Given the description of an element on the screen output the (x, y) to click on. 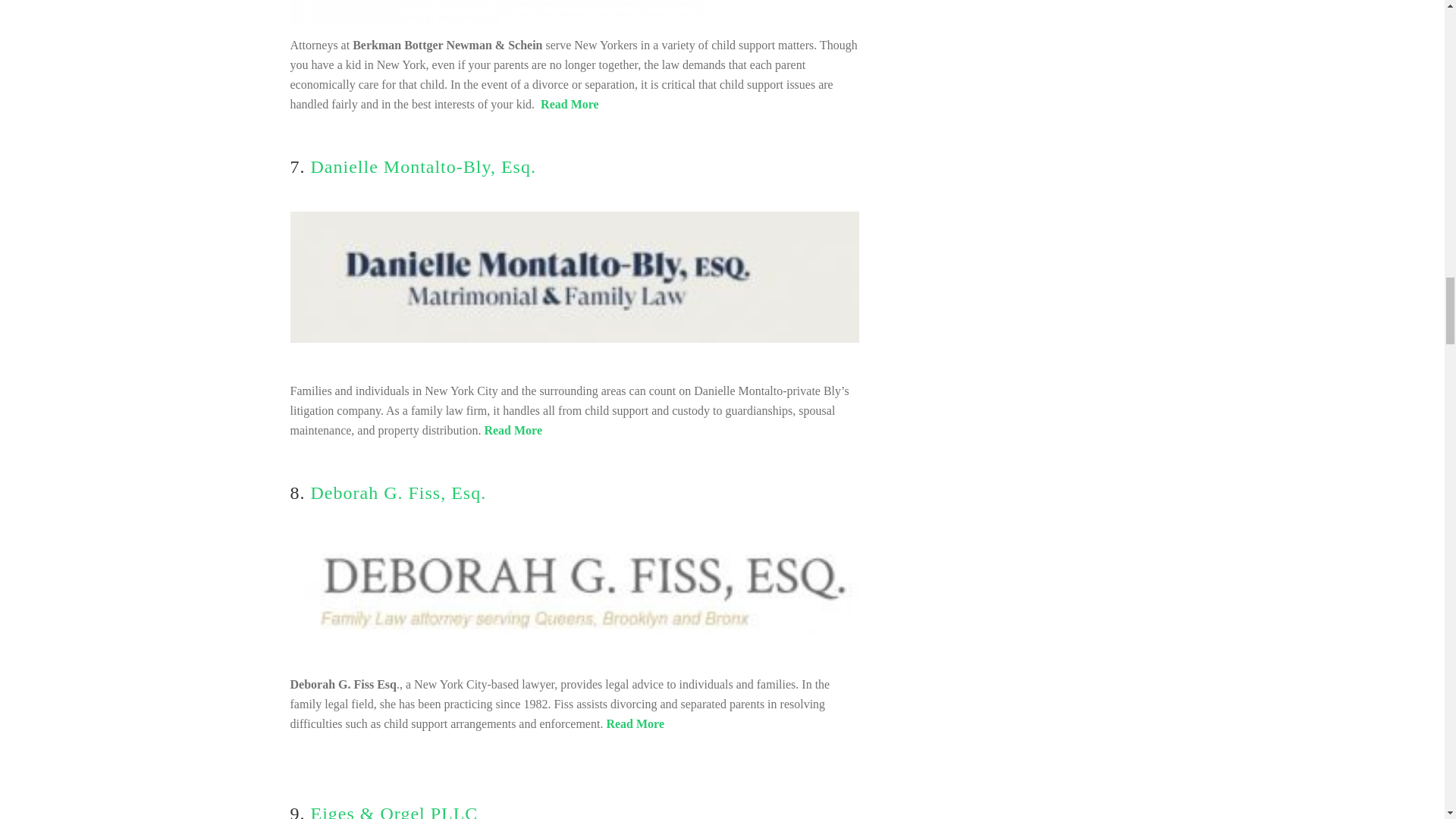
Deborah G. Fiss, Esq. (398, 492)
Danielle Montalto-Bly, Esq. (423, 166)
Read More (634, 723)
Read More (569, 103)
Read More (512, 430)
